Given the description of an element on the screen output the (x, y) to click on. 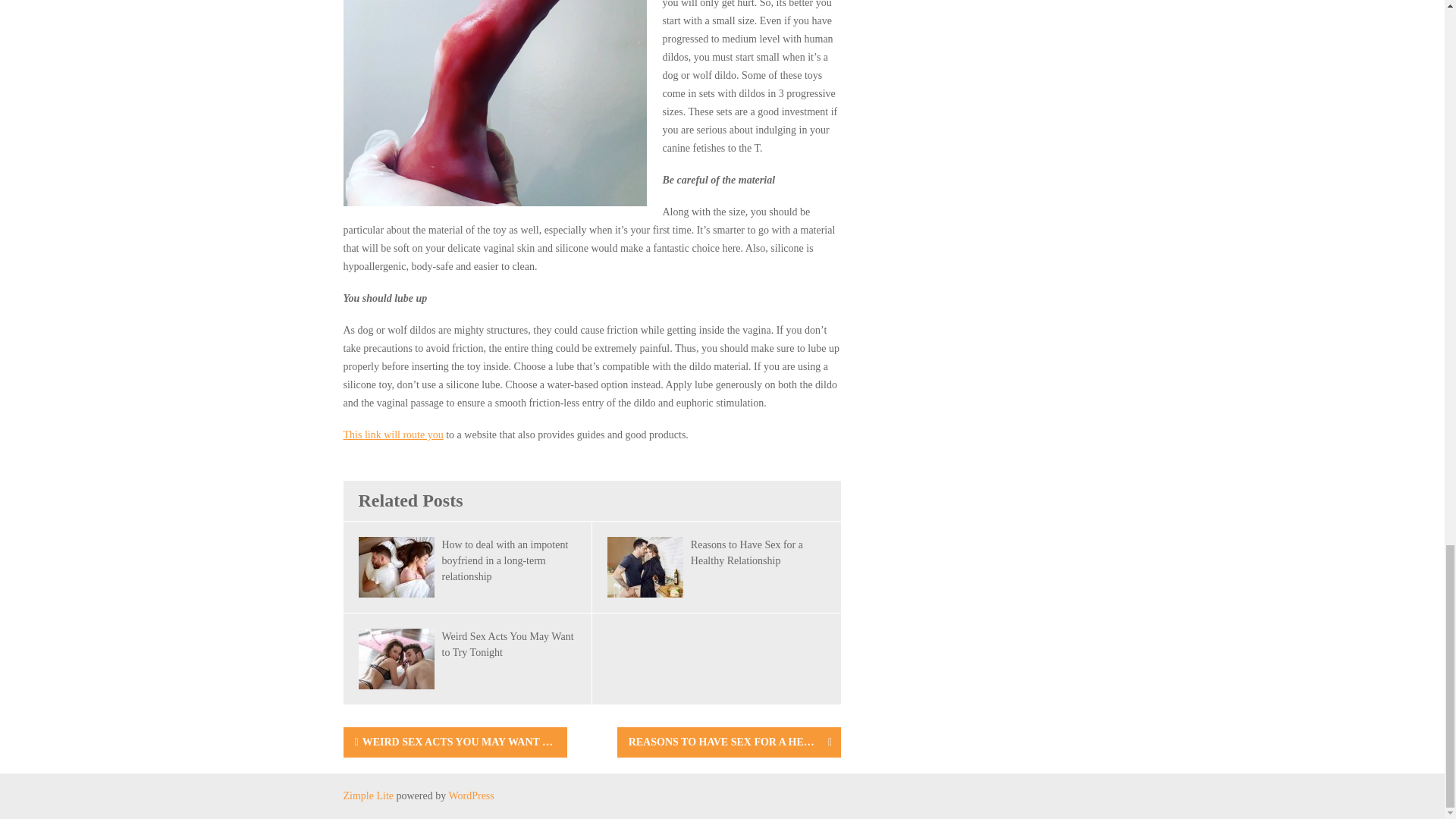
REASONS TO HAVE SEX FOR A HEALTHY RELATIONSHIP (723, 742)
Weird Sex Acts You May Want to Try Tonight (507, 644)
WEIRD SEX ACTS YOU MAY WANT TO TRY TONIGHT (454, 742)
Reasons to Have Sex for a Healthy Relationship (746, 552)
This link will route you (392, 434)
